Given the description of an element on the screen output the (x, y) to click on. 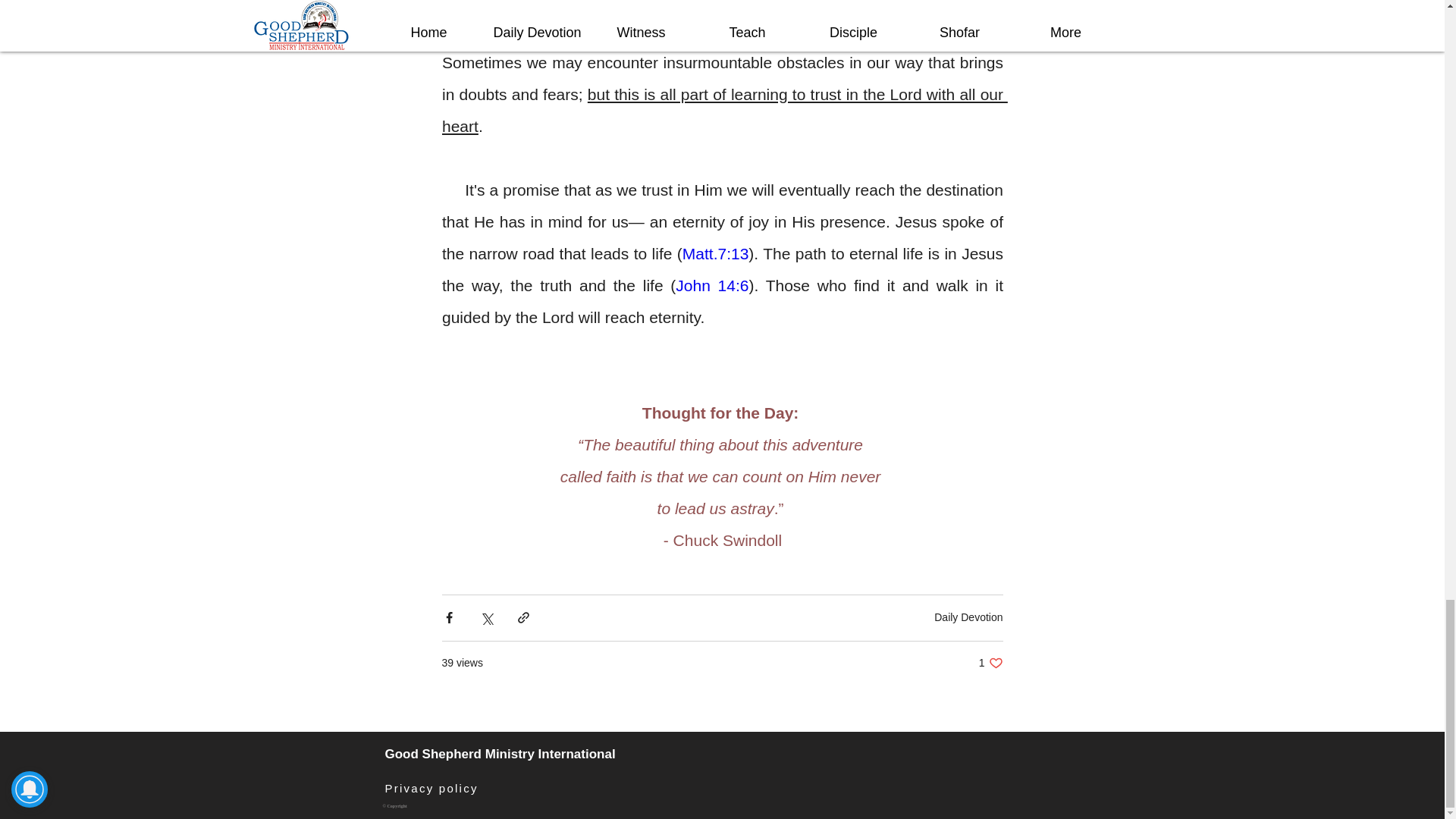
John 14:6 (711, 285)
Privacy policy (432, 787)
Matt.7:13 (990, 663)
Daily Devotion (714, 253)
